Given the description of an element on the screen output the (x, y) to click on. 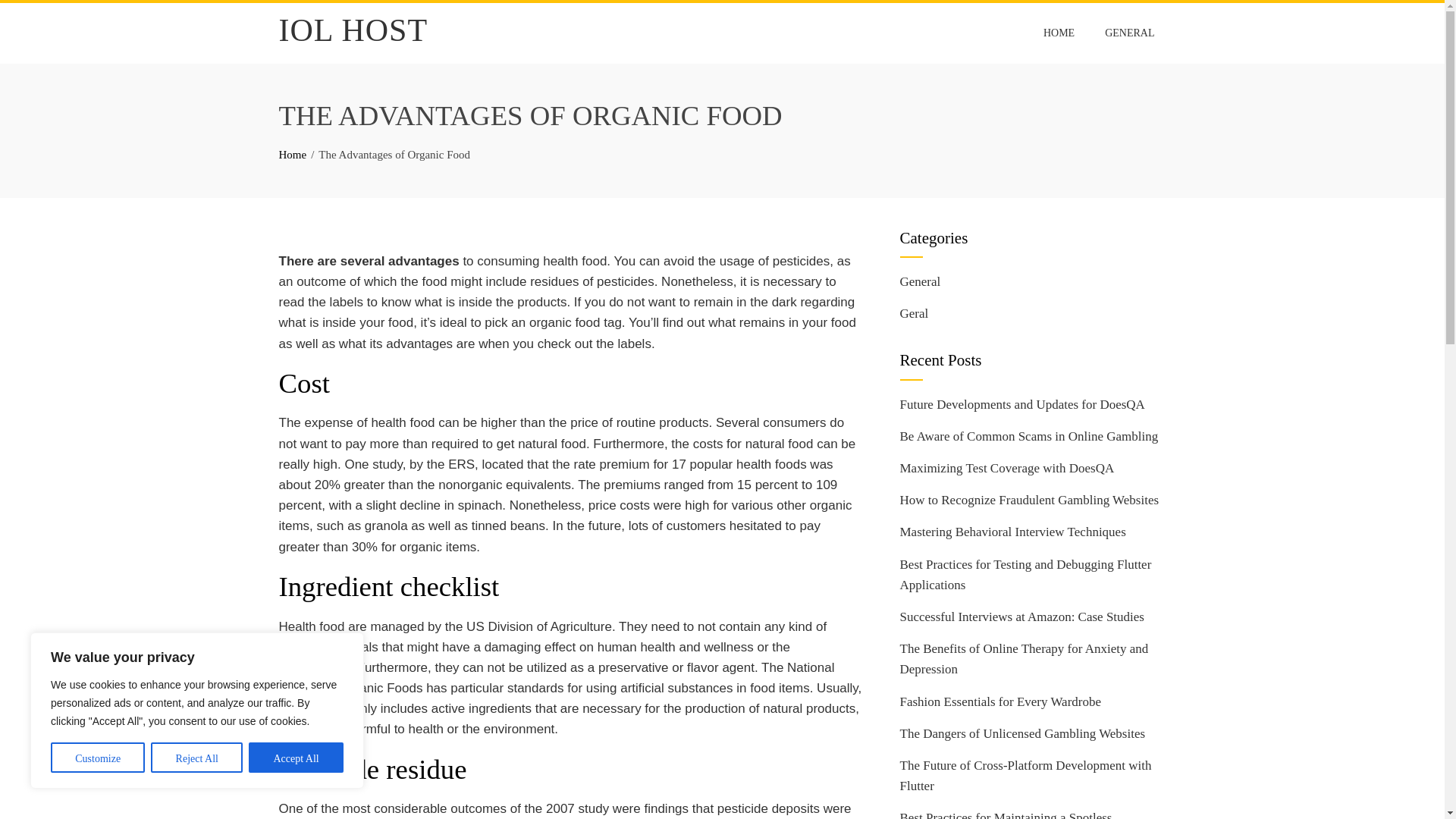
The Future of Cross-Platform Development with Flutter (1025, 775)
The Dangers of Unlicensed Gambling Websites (1021, 733)
How to Recognize Fraudulent Gambling Websites (1028, 499)
Accept All (295, 757)
General (919, 281)
Future Developments and Updates for DoesQA (1021, 404)
Home (293, 154)
Maximizing Test Coverage with DoesQA (1006, 468)
GENERAL (1129, 32)
Be Aware of Common Scams in Online Gambling (1028, 436)
